Given the description of an element on the screen output the (x, y) to click on. 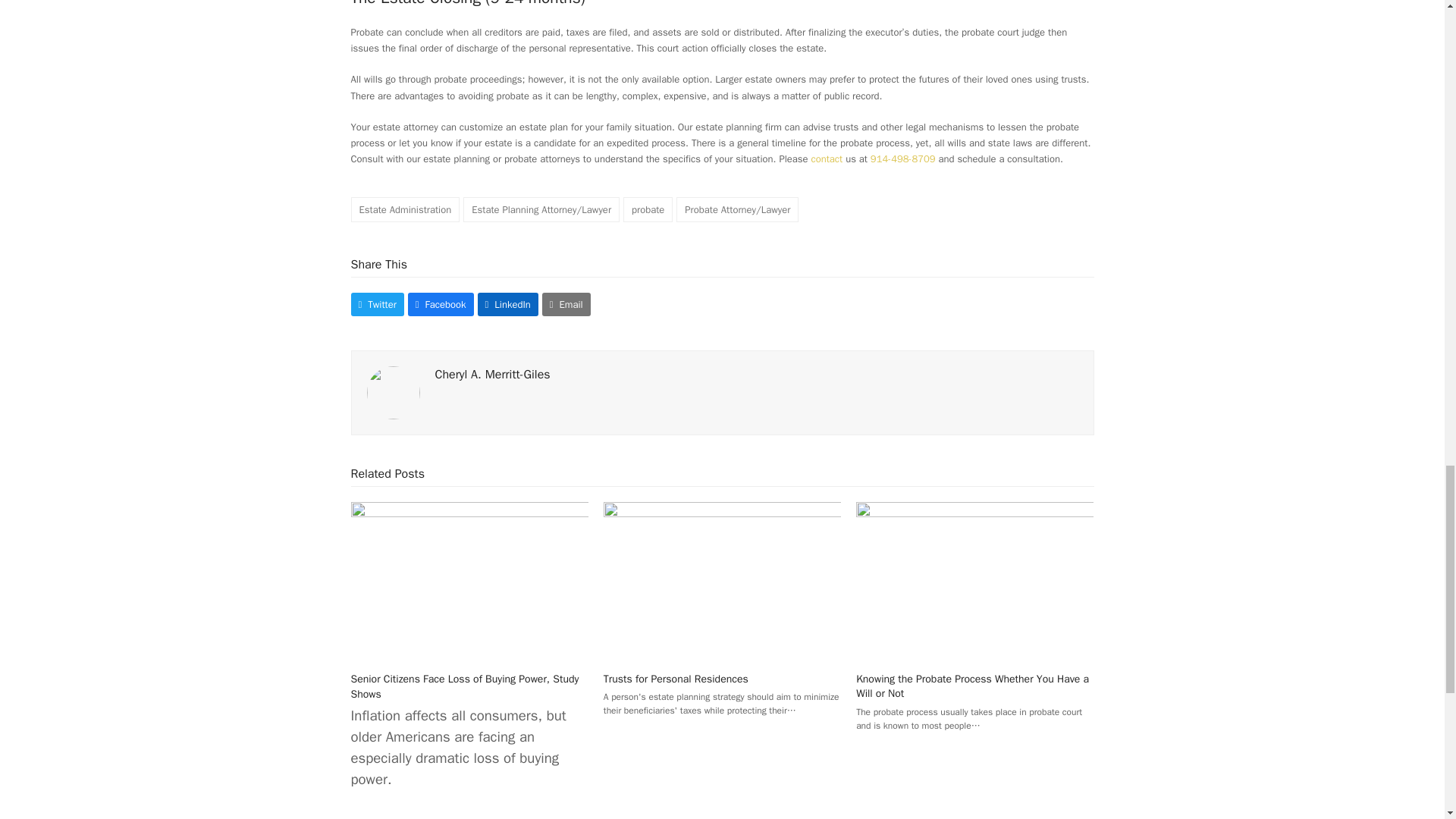
Trusts for Personal Residences (676, 678)
Knowing the Probate Process Whether You Have a Will or Not (974, 580)
LinkedIn (507, 304)
Email (566, 304)
Estate Administration (405, 209)
Twitter (376, 304)
Senior Citizens Face Loss of Buying Power, Study Shows (469, 580)
contact (826, 158)
probate (647, 209)
Cheryl A. Merritt-Giles (492, 374)
Senior Citizens Face Loss of Buying Power, Study Shows (464, 686)
Facebook (440, 304)
914-498-8709 (903, 158)
Visit Author Page (393, 391)
Visit Author Page (492, 374)
